Given the description of an element on the screen output the (x, y) to click on. 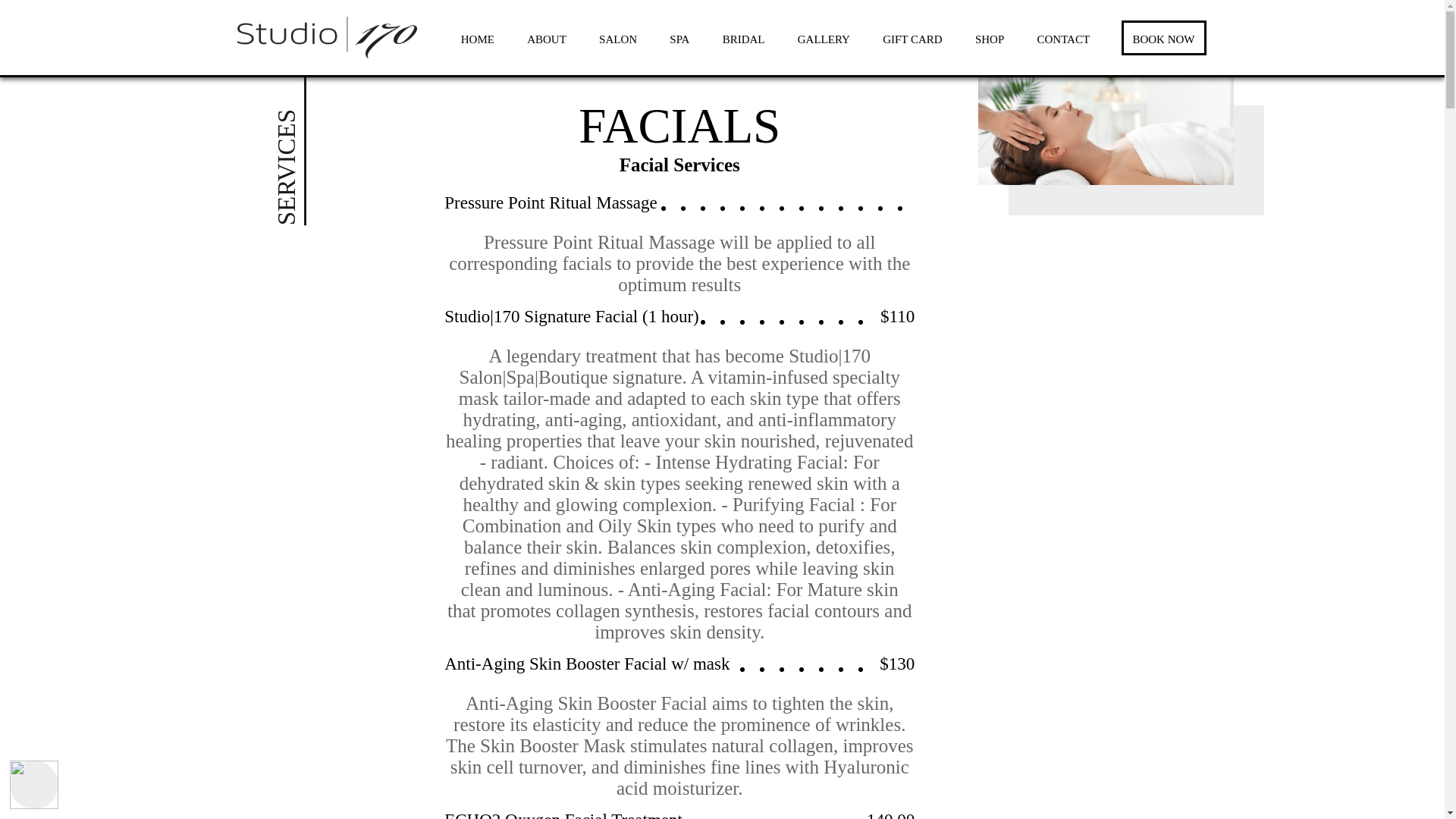
SALON (617, 39)
BRIDAL (743, 39)
CONTACT (1062, 39)
HOME (478, 39)
Accessibility Menu (34, 784)
SPA (678, 39)
BOOK NOW (1163, 37)
GALLERY (823, 39)
SHOP (989, 39)
ABOUT (546, 39)
GIFT CARD (912, 39)
